Given the description of an element on the screen output the (x, y) to click on. 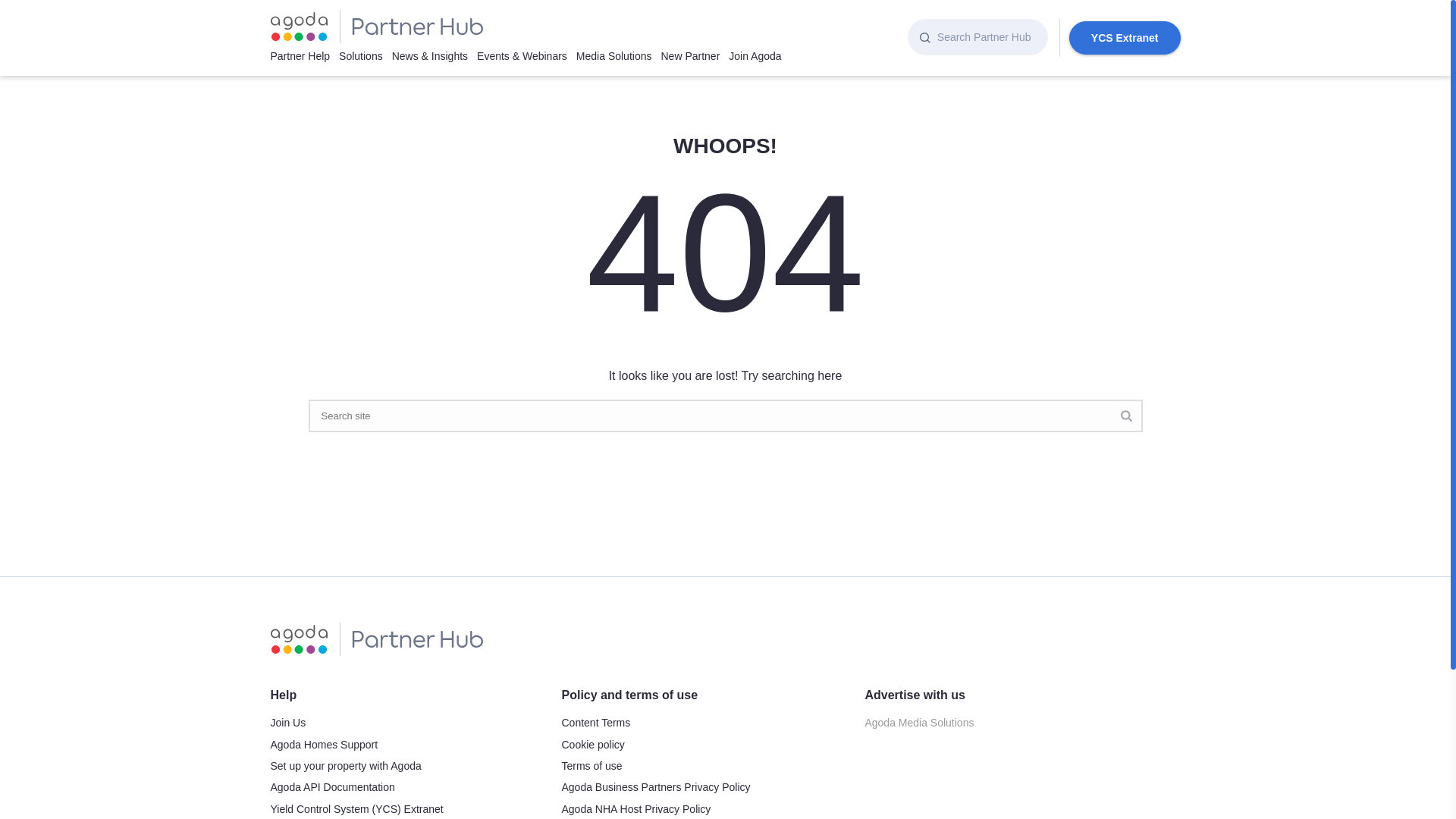
New Partner (695, 55)
Partner Help (304, 55)
Solutions (365, 55)
Media Solutions (618, 55)
Solutions (365, 55)
Join Agoda (759, 55)
Partner Help (304, 55)
Agoda Partner Hub (375, 26)
